Given the description of an element on the screen output the (x, y) to click on. 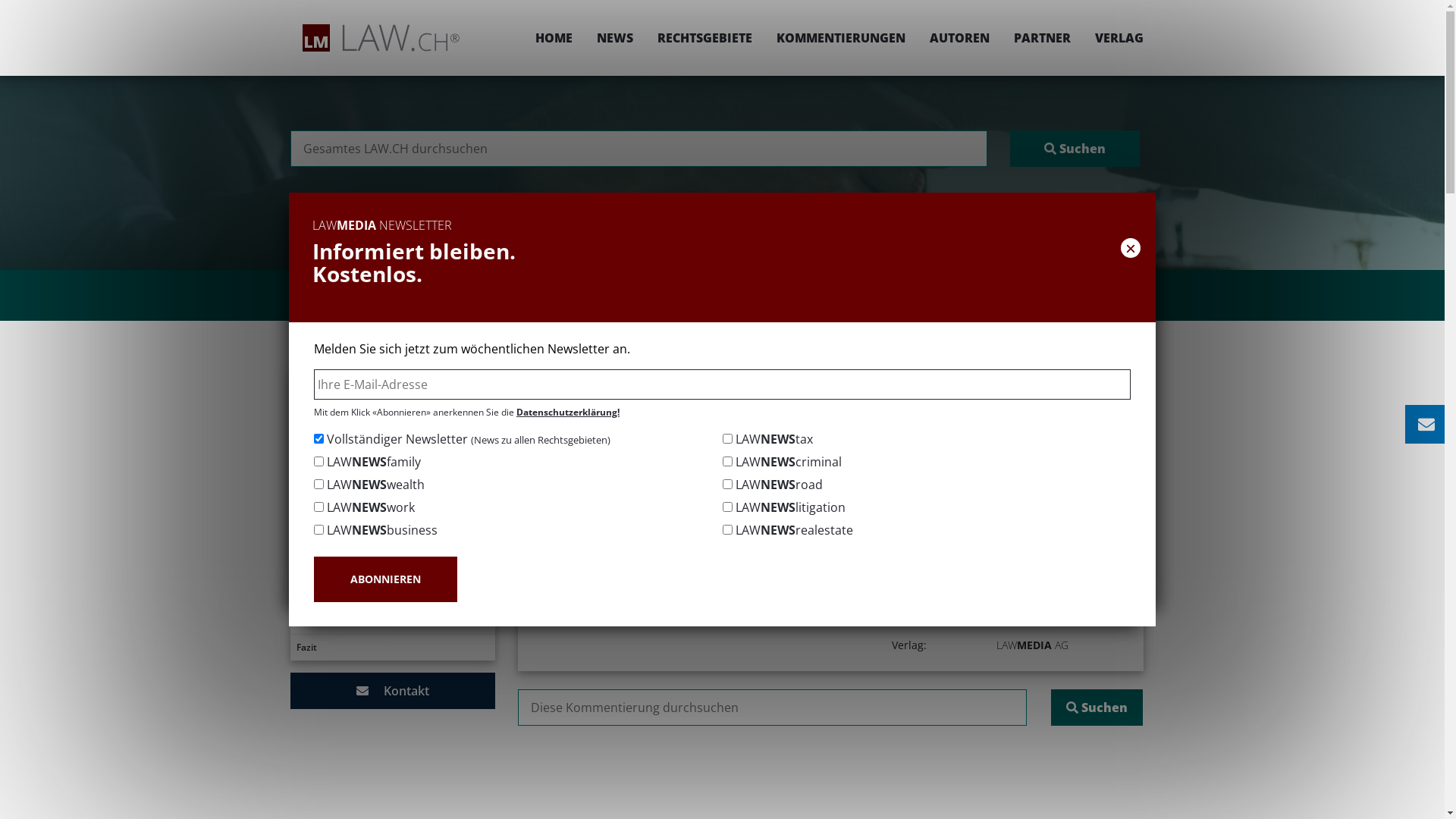
Bedeutung des Katasters Element type: text (391, 594)
ABONNIEREN Element type: text (385, 579)
 DRUCKEN / PDF Element type: text (1095, 426)
PARTNER Element type: text (1041, 37)
Suchen nach: Element type: hover (771, 707)
Einleitung zum Altlastenrecht Element type: text (391, 381)
    Kontakt Element type: text (391, 690)
NEWS Element type: text (613, 37)
Home Element type: text (628, 375)
Verwendung der Begriffe Element type: text (391, 567)
Kostentragungspflichten Element type: text (391, 434)
HOME Element type: text (553, 37)
VERLAG Element type: text (1112, 37)
 TEILEN Element type: text (989, 426)
Fazit Element type: text (391, 647)
Suchen nach: Element type: hover (637, 148)
AUTOREN Element type: text (959, 37)
RECHTSGEBIETE Element type: text (703, 37)
bei belasteten Standorten ohne Sanierungspflicht Element type: text (391, 467)
Rechtsgebiete Element type: text (697, 375)
bei belasteten Standorten mit Sanierungspflicht (Altlasten) Element type: text (391, 507)
bei Abfall Element type: text (391, 541)
KOMMENTIERUNGEN Element type: text (840, 37)
Inhaltsverzeichnis Element type: text (391, 407)
